Given the description of an element on the screen output the (x, y) to click on. 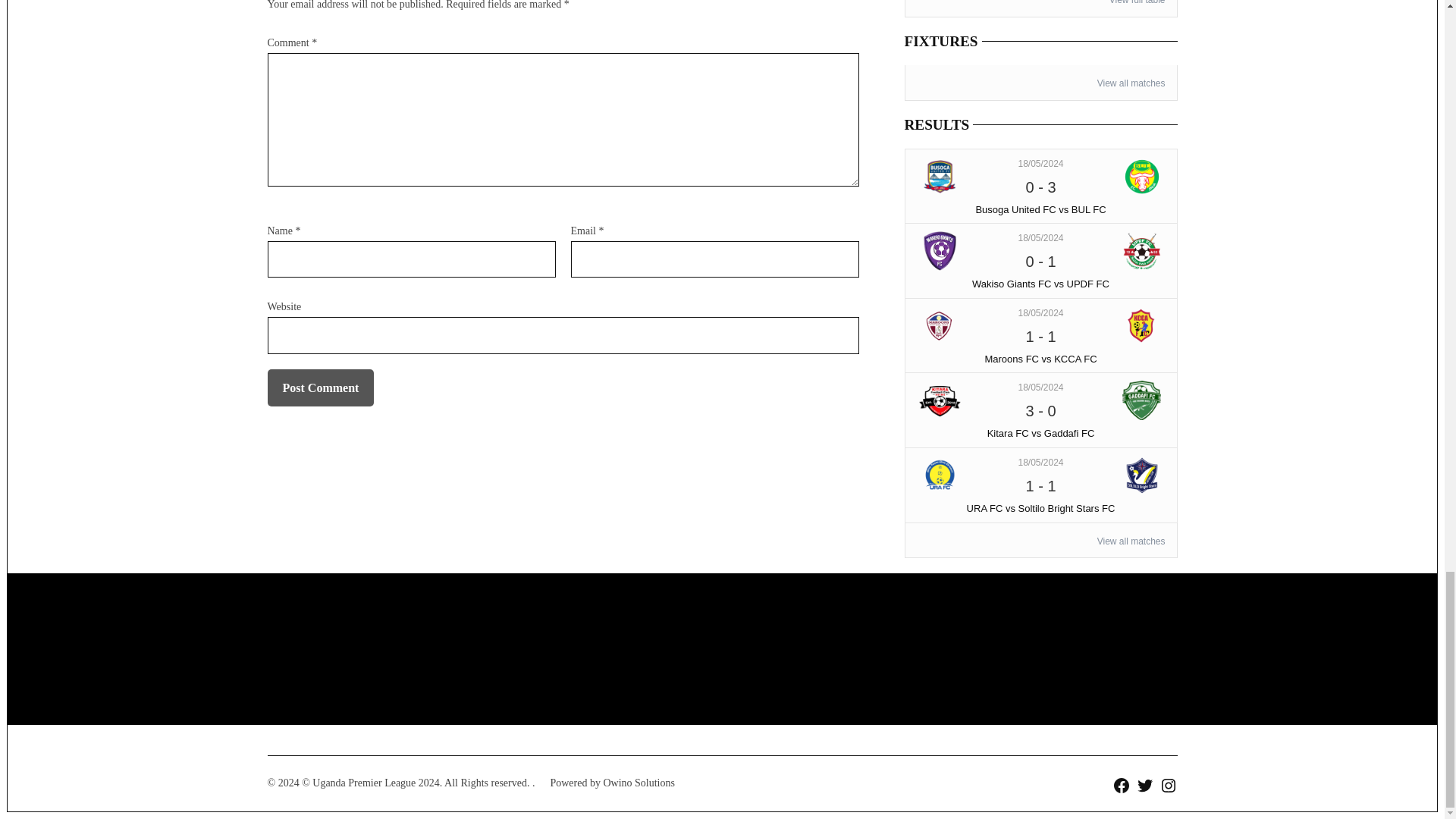
Gaddafi FC (1142, 400)
Wakiso Giants FC (940, 250)
URA FC (940, 475)
Busoga United FC (940, 176)
Kitara FC (940, 400)
UPDF FC (1142, 250)
Soltilo Bright Stars FC (1142, 475)
KCCA FC (1142, 325)
Post Comment (320, 388)
BUL FC (1142, 176)
